Given the description of an element on the screen output the (x, y) to click on. 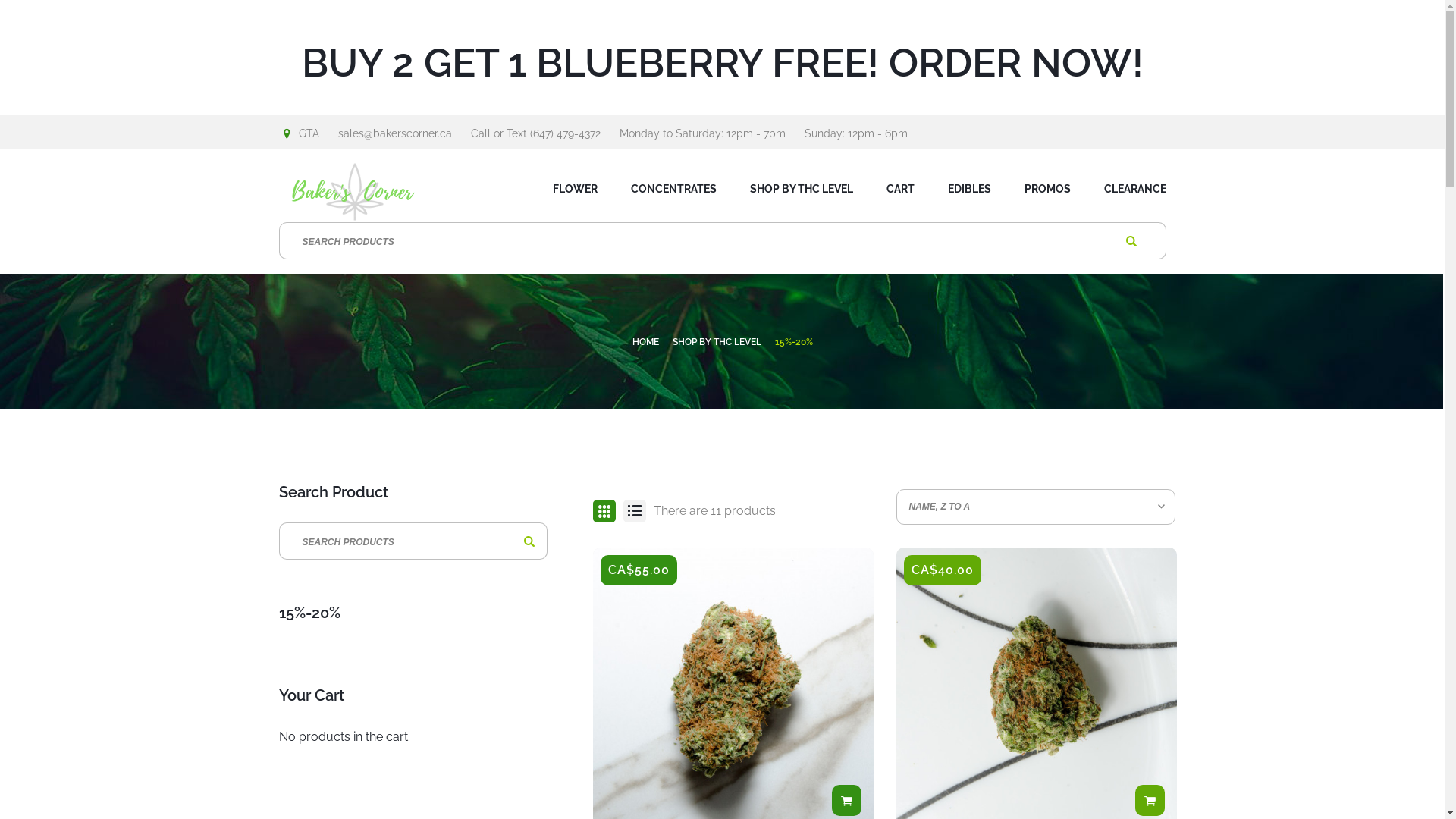
Baker's Corner Element type: hover (381, 191)
NAME, Z TO A Element type: text (1035, 506)
15%-20% Element type: text (793, 341)
CLEARANCE Element type: text (1127, 187)
Grid Element type: hover (604, 511)
PROMOS Element type: text (1046, 187)
FLOWER Element type: text (573, 187)
SHOP BY THC LEVEL Element type: text (716, 341)
EDIBLES Element type: text (969, 187)
List Element type: hover (634, 510)
SHOP BY THC LEVEL Element type: text (800, 187)
15%-20% Element type: text (413, 624)
CART Element type: text (899, 187)
CONCENTRATES Element type: text (673, 187)
HOME Element type: text (646, 341)
